Given the description of an element on the screen output the (x, y) to click on. 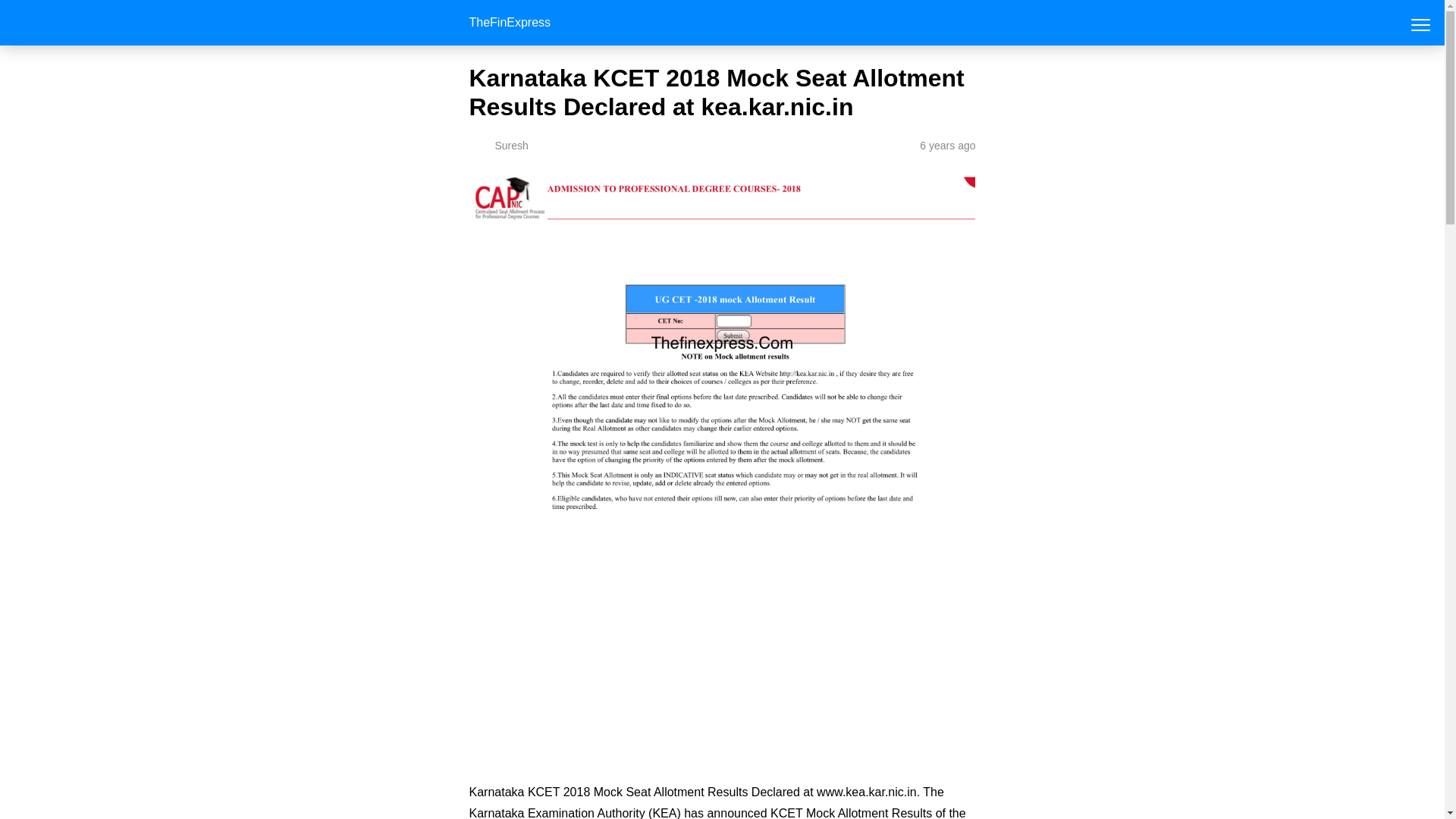
3rd party ad content (721, 645)
TheFinExpress (509, 21)
